Given the description of an element on the screen output the (x, y) to click on. 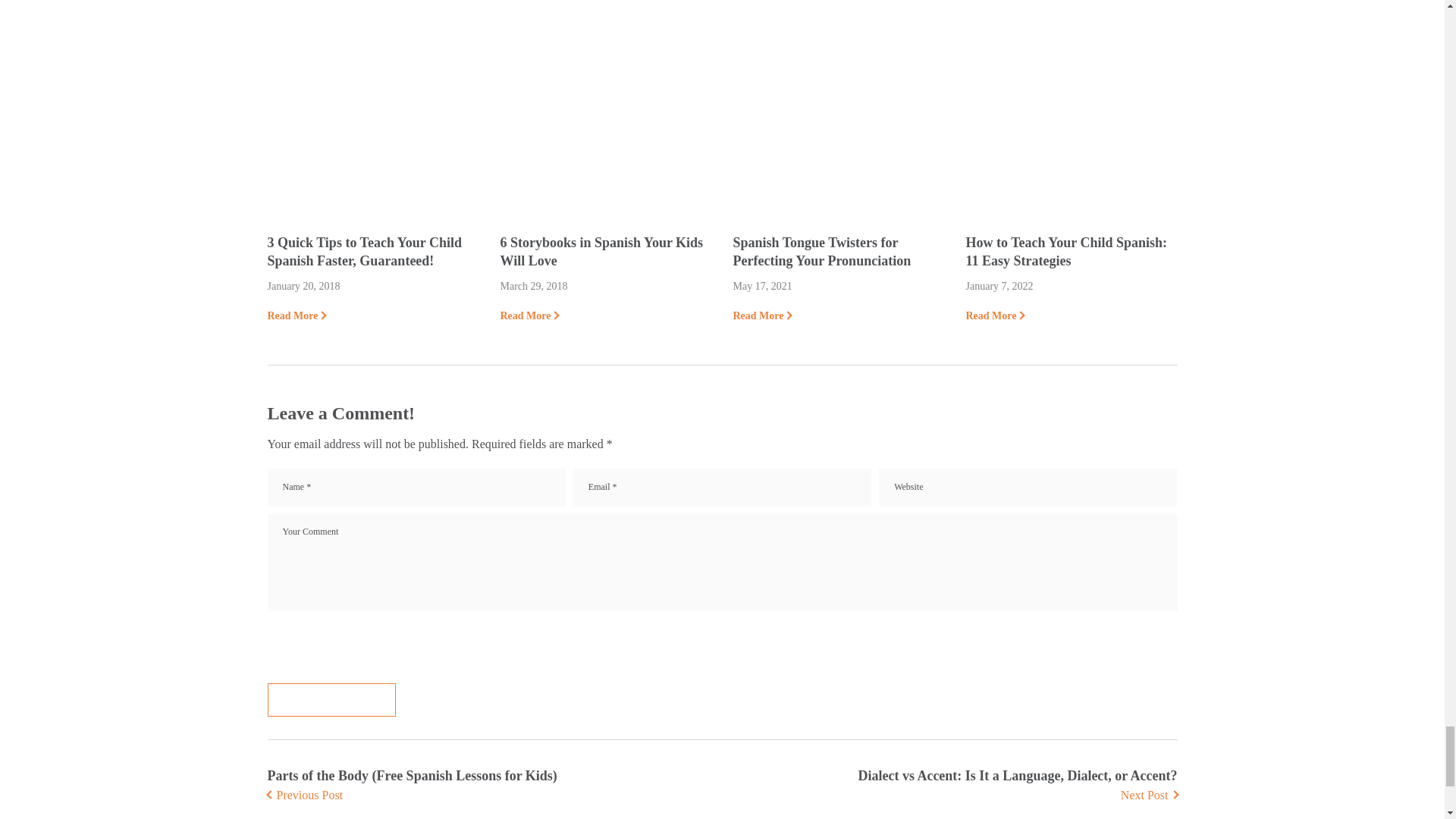
Dialect vs Accent: Is It a Language, Dialect, or Accent? (1016, 785)
Post comment (330, 699)
Website (1027, 487)
